Given the description of an element on the screen output the (x, y) to click on. 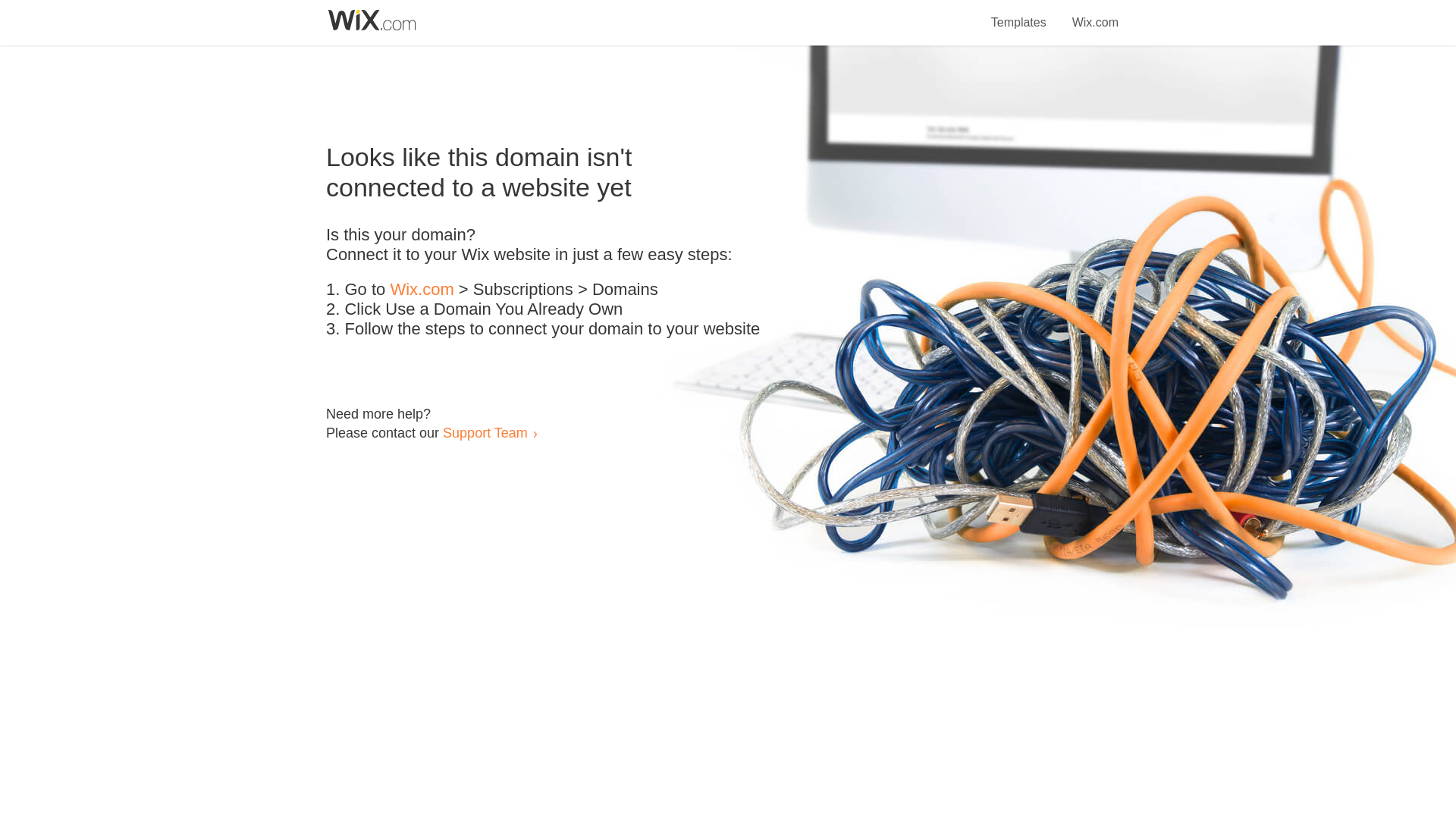
Wix.com (1095, 14)
Support Team (484, 432)
Templates (1018, 14)
Wix.com (421, 289)
